Given the description of an element on the screen output the (x, y) to click on. 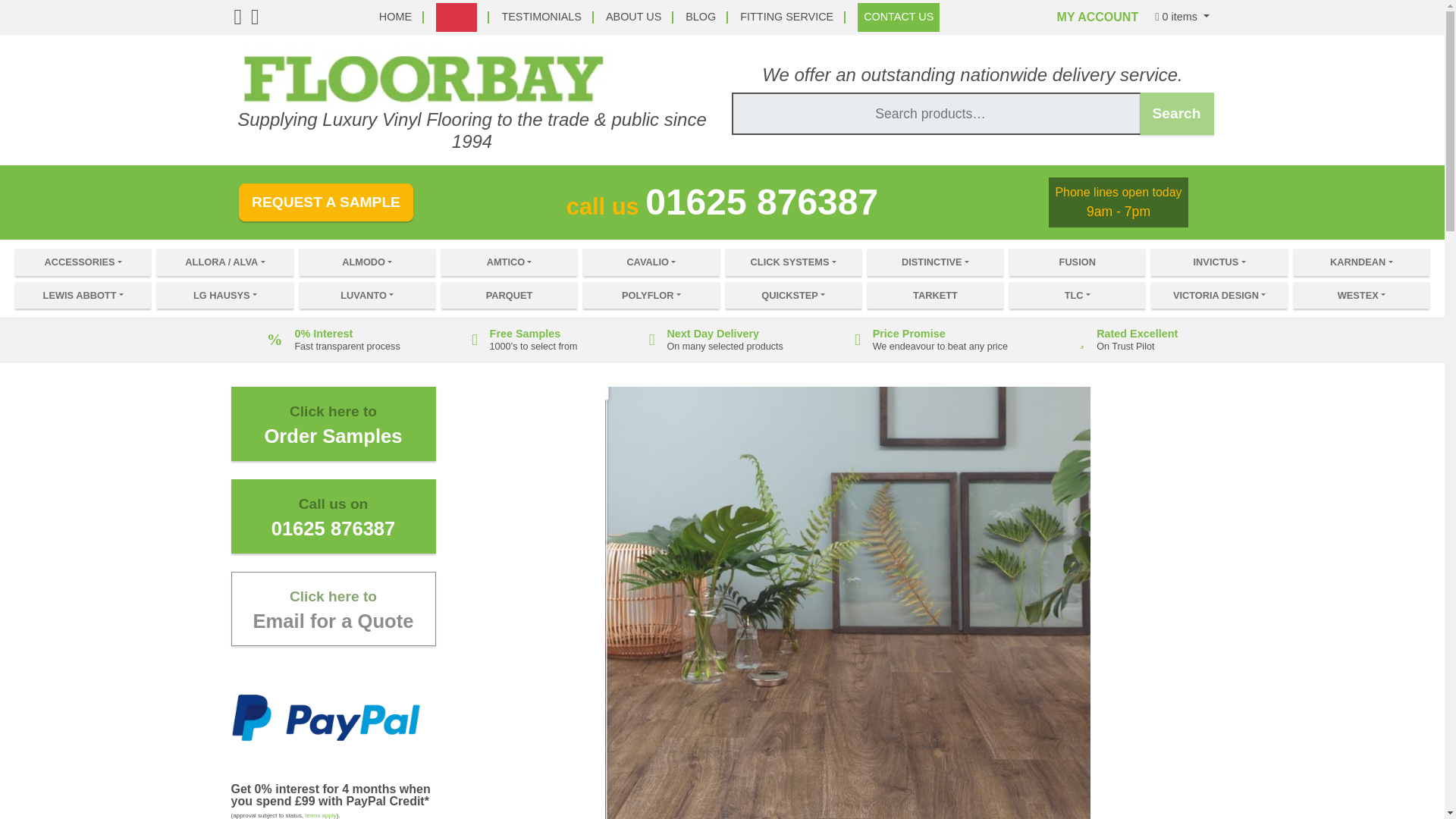
0 items (1181, 17)
Blog (700, 17)
SALE (456, 17)
Fitting Service (785, 17)
TESTIMONIALS (540, 17)
Testimonials (540, 17)
HOME (395, 17)
FITTING SERVICE (785, 17)
Contact Us (898, 17)
My Account (1097, 17)
ABOUT US (633, 17)
CONTACT US (898, 17)
Home (395, 17)
MY ACCOUNT (1097, 17)
BLOG (700, 17)
